Given the description of an element on the screen output the (x, y) to click on. 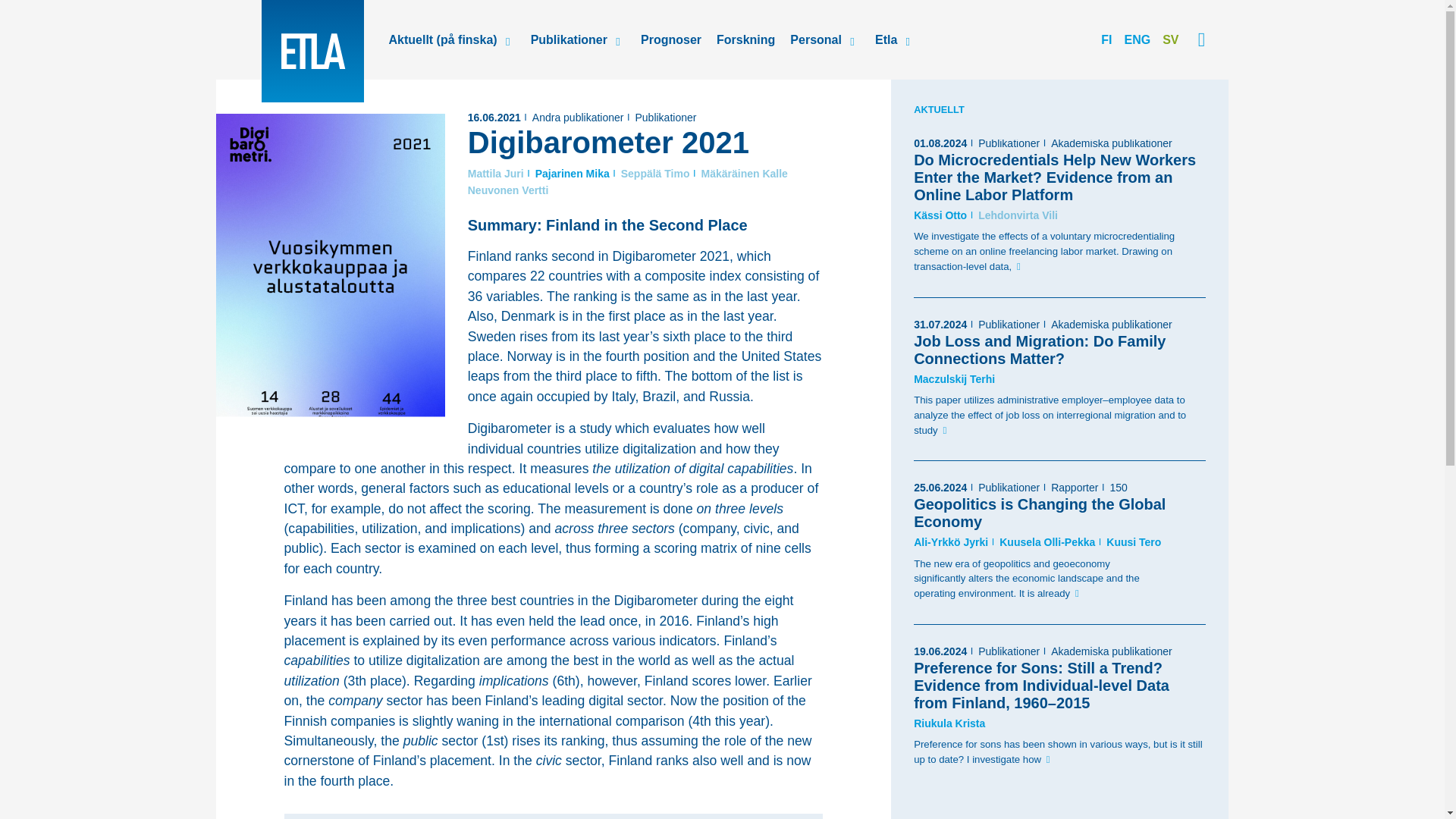
Forskning (746, 39)
Personal (812, 39)
Pajarinen Mika (572, 173)
Publikationer (564, 39)
Prognoser (671, 39)
Eng (1137, 39)
Andra publikationer (578, 117)
Etla (311, 51)
Publikationer (1008, 143)
Publikationer (664, 117)
